Given the description of an element on the screen output the (x, y) to click on. 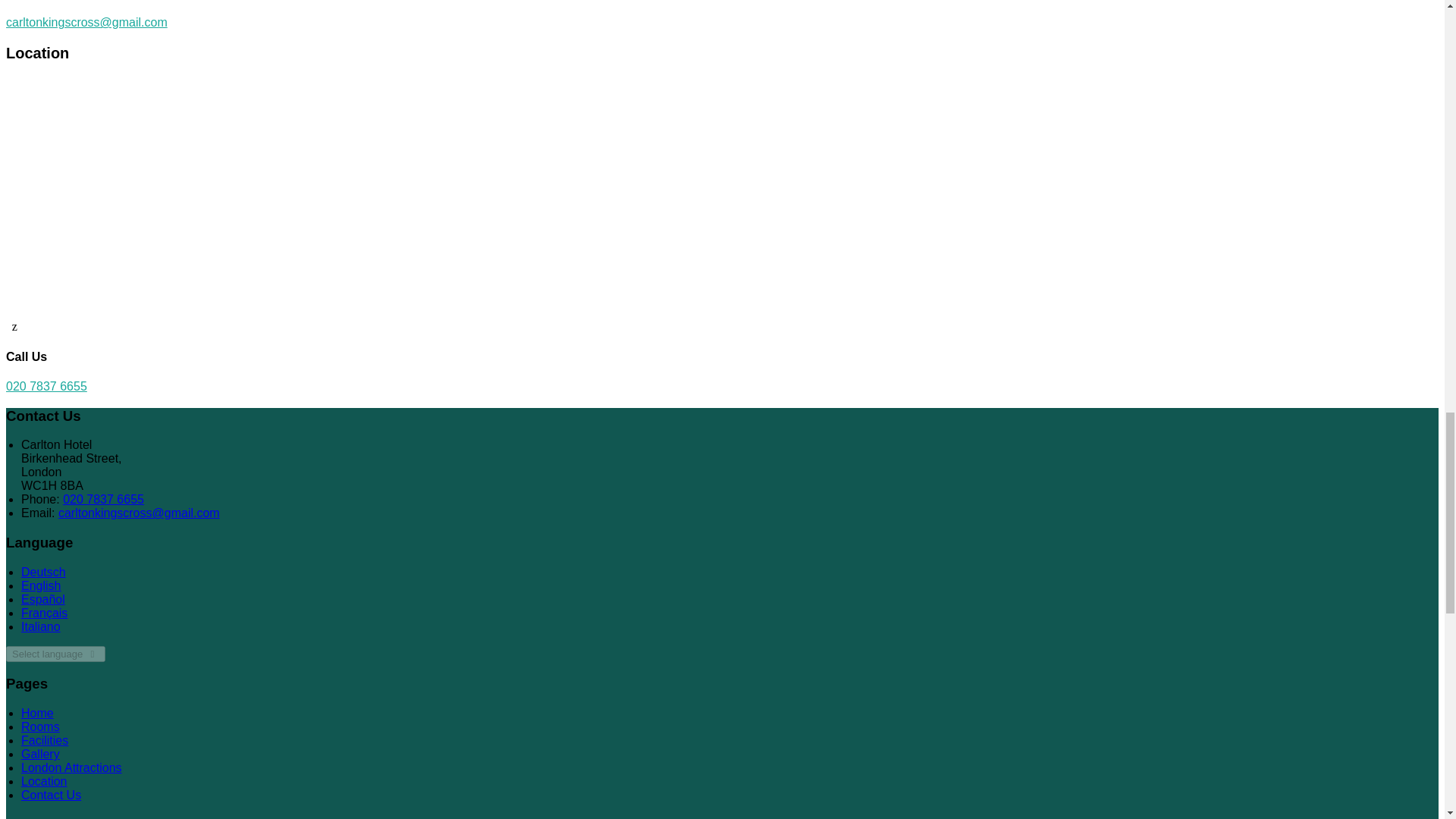
Deutsch (43, 571)
Italiano (41, 626)
English (41, 585)
